Given the description of an element on the screen output the (x, y) to click on. 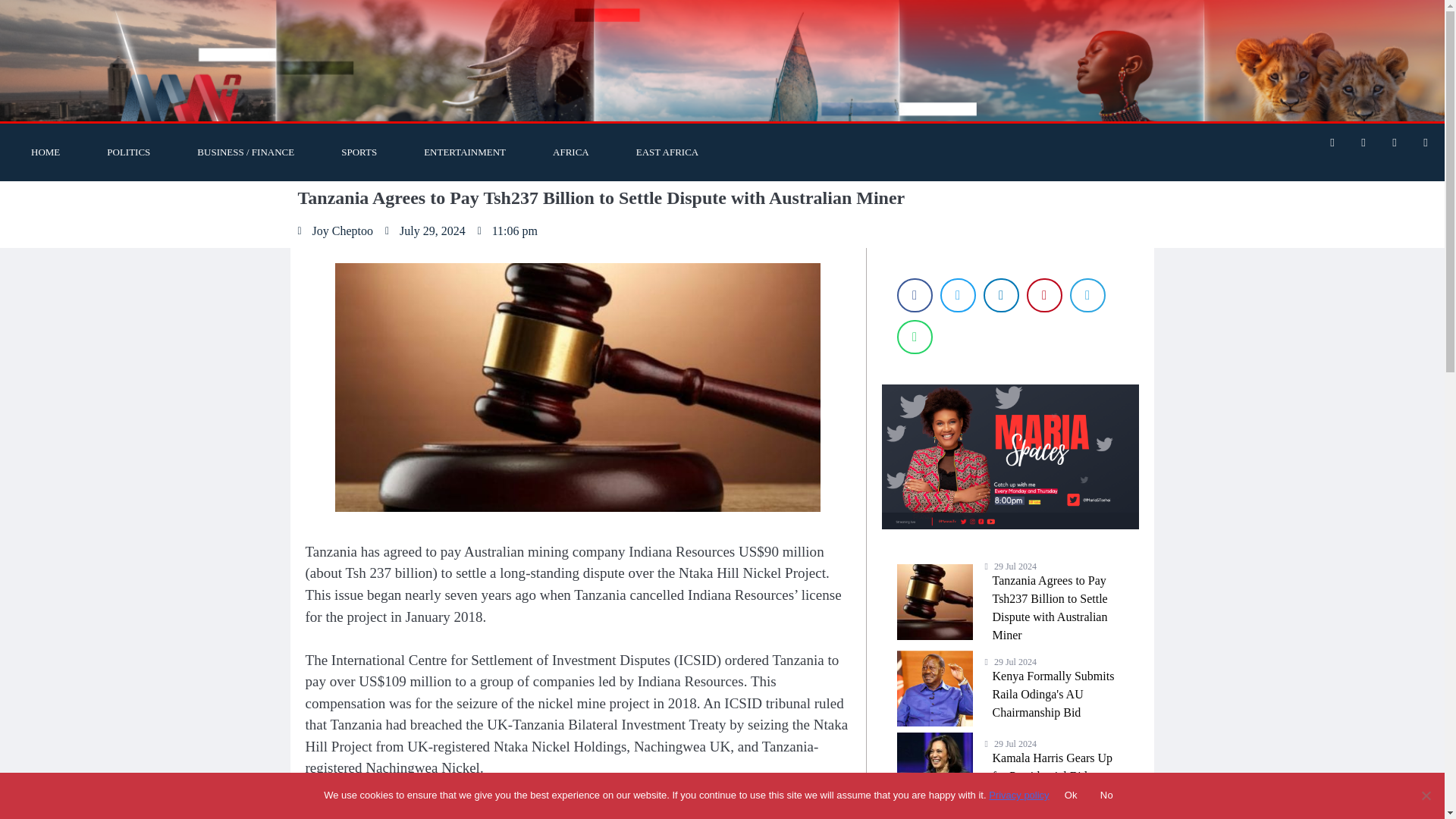
Joy Cheptoo (334, 230)
HOME (44, 152)
July 29, 2024 (425, 230)
EAST AFRICA (667, 152)
POLITICS (127, 152)
ENTERTAINMENT (464, 152)
AFRICA (570, 152)
No (1425, 795)
SPORTS (358, 152)
